Given the description of an element on the screen output the (x, y) to click on. 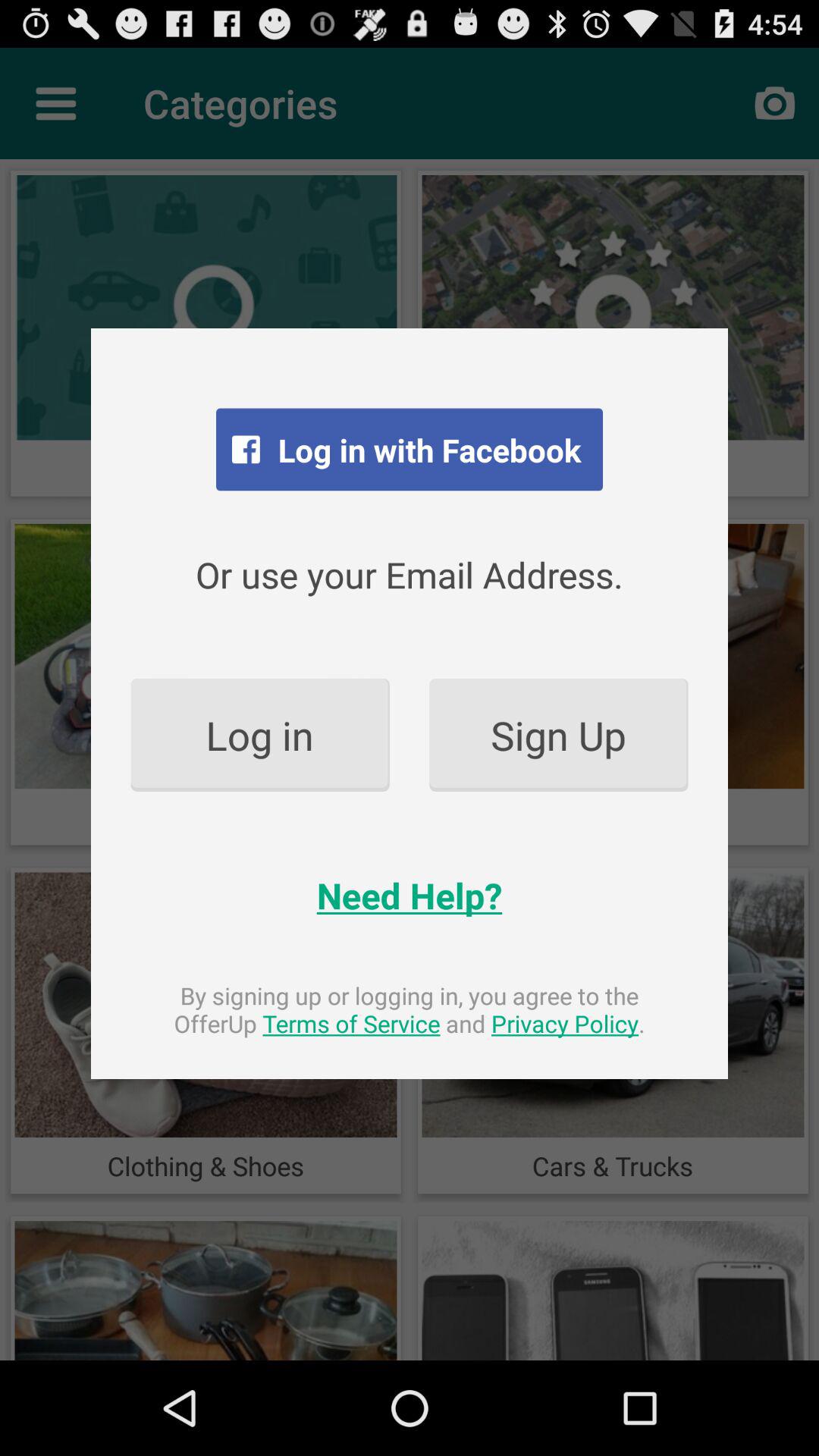
scroll until the sign up icon (558, 734)
